Given the description of an element on the screen output the (x, y) to click on. 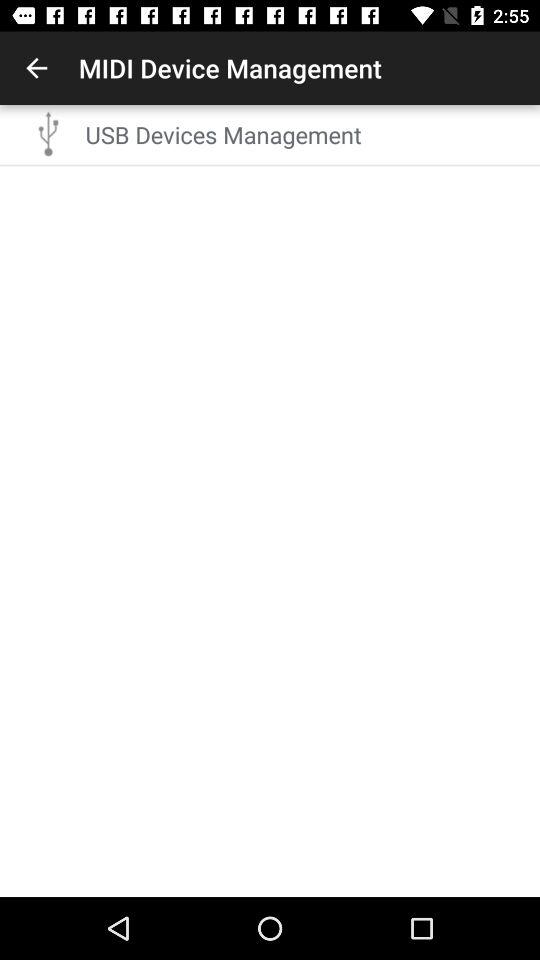
open item next to the midi device management item (36, 68)
